Given the description of an element on the screen output the (x, y) to click on. 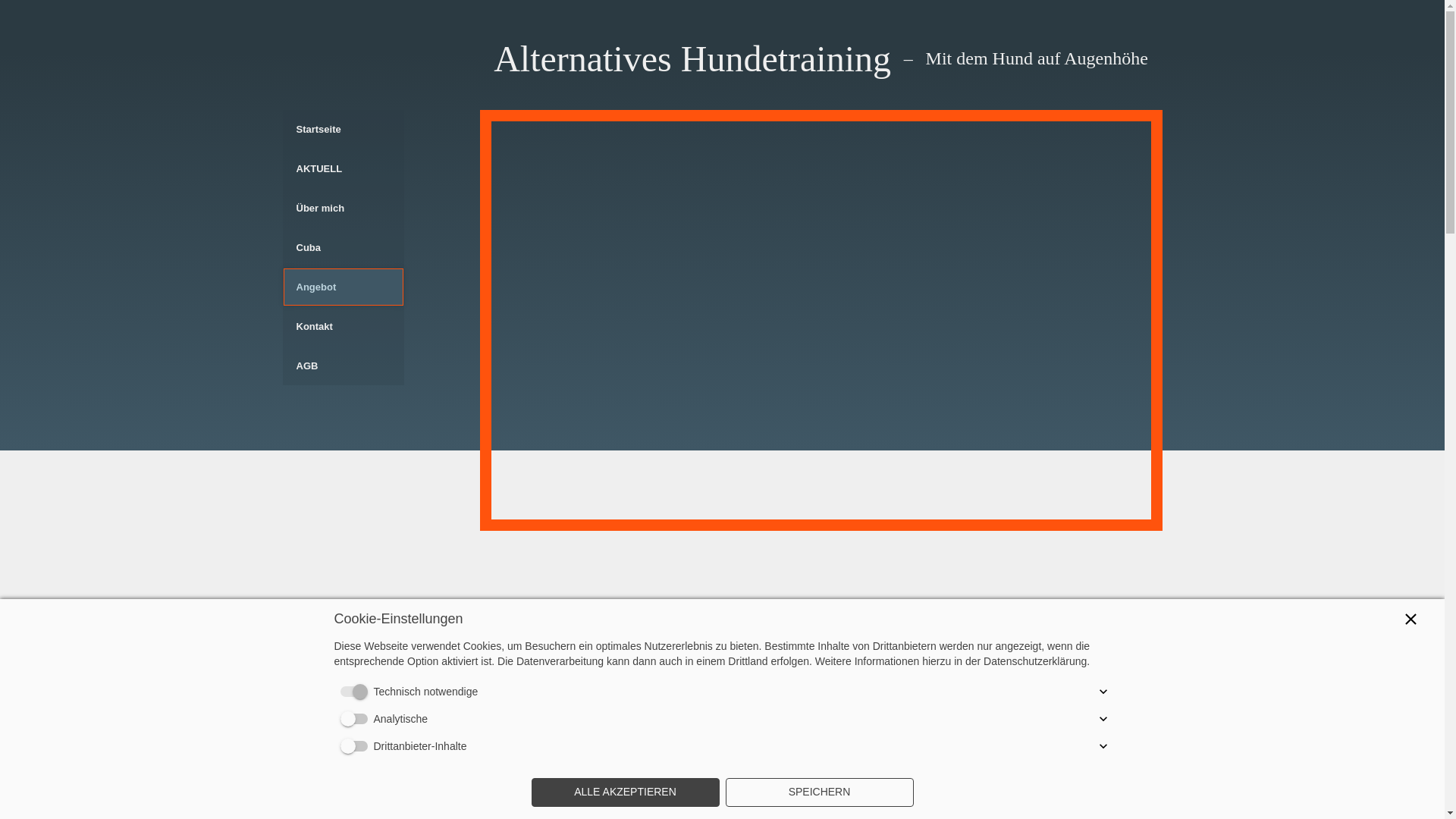
Angebot Element type: text (342, 286)
Kontakt Element type: text (342, 326)
ALLE AKZEPTIEREN Element type: text (624, 792)
Cuba Element type: text (342, 247)
Instagram Element type: hover (1093, 666)
SPEICHERN Element type: text (818, 792)
AKTUELL Element type: text (342, 168)
Facebook Element type: hover (1093, 722)
E-Mail Element type: hover (1093, 778)
AGB Element type: text (342, 365)
Startseite Element type: text (342, 128)
